Given the description of an element on the screen output the (x, y) to click on. 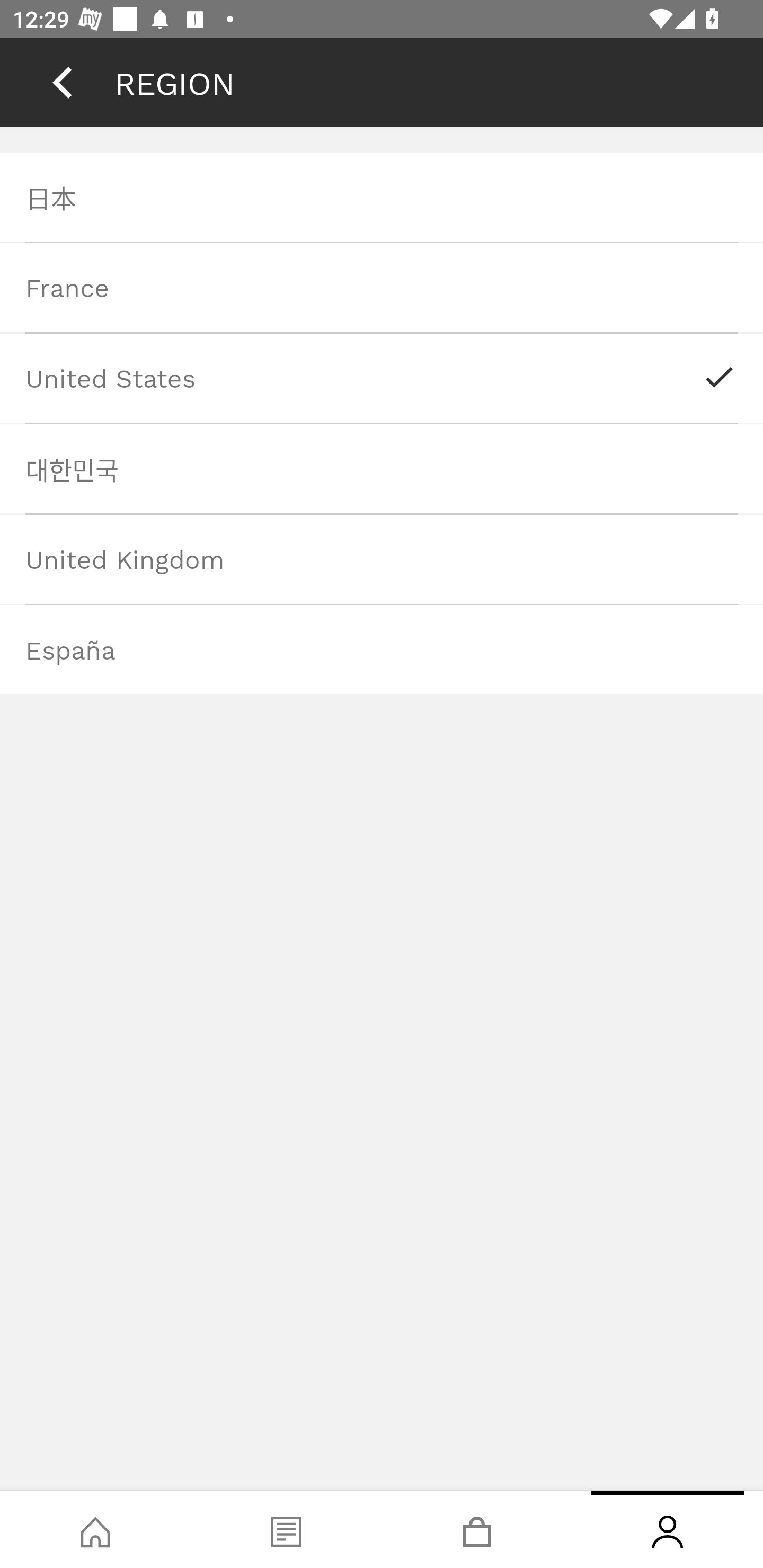
LOCATION, back (61, 82)
日本 (381, 196)
France (381, 287)
United States (381, 378)
대한민국 (381, 468)
United Kingdom (381, 558)
España (381, 649)
Shop, tab, 1 of 4 (95, 1529)
Blog, tab, 2 of 4 (285, 1529)
Basket, tab, 3 of 4 (476, 1529)
Account, tab, 4 of 4 (667, 1529)
